Given the description of an element on the screen output the (x, y) to click on. 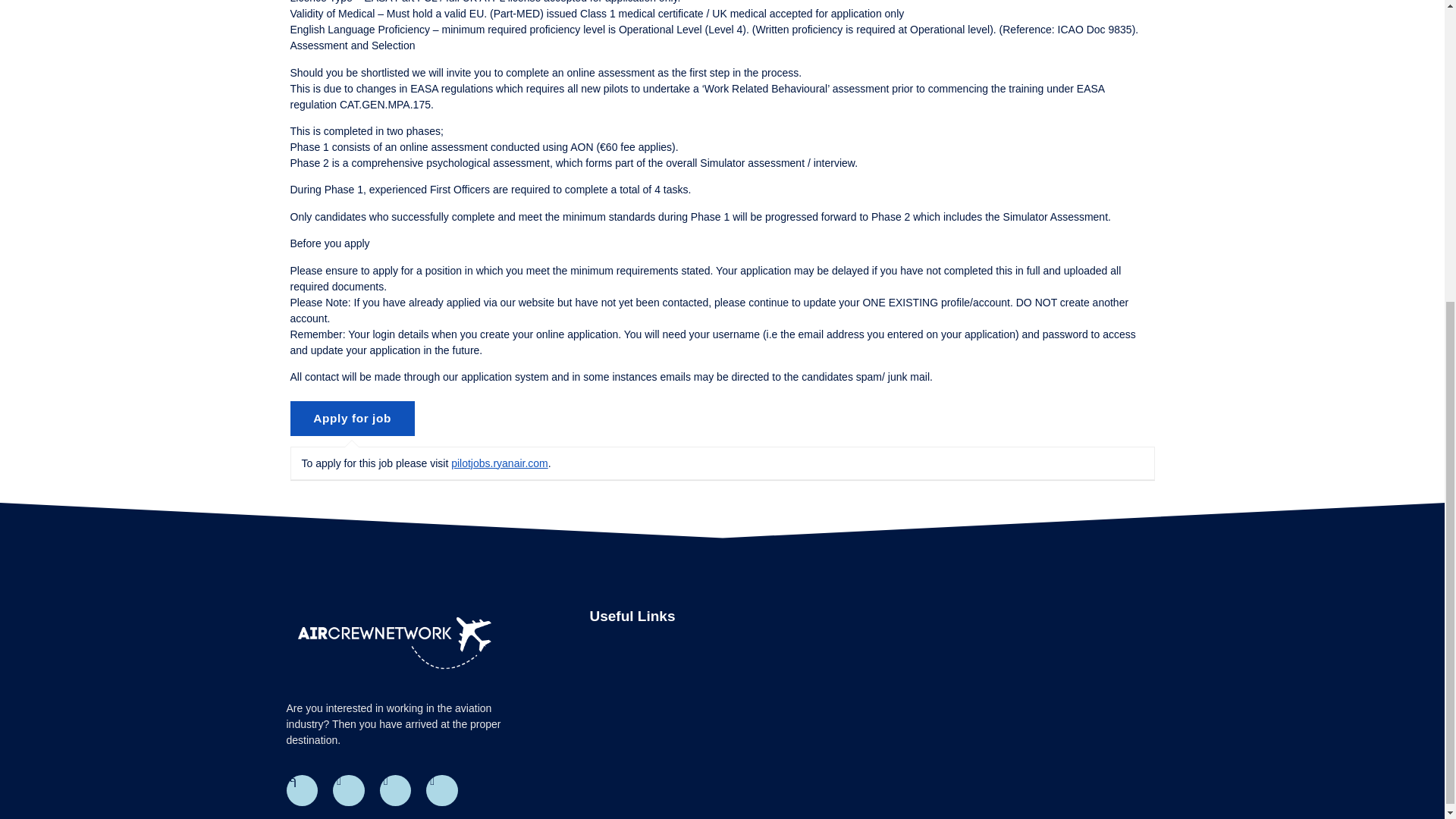
pilotjobs.ryanair.com (499, 463)
Apply for job (351, 418)
